Given the description of an element on the screen output the (x, y) to click on. 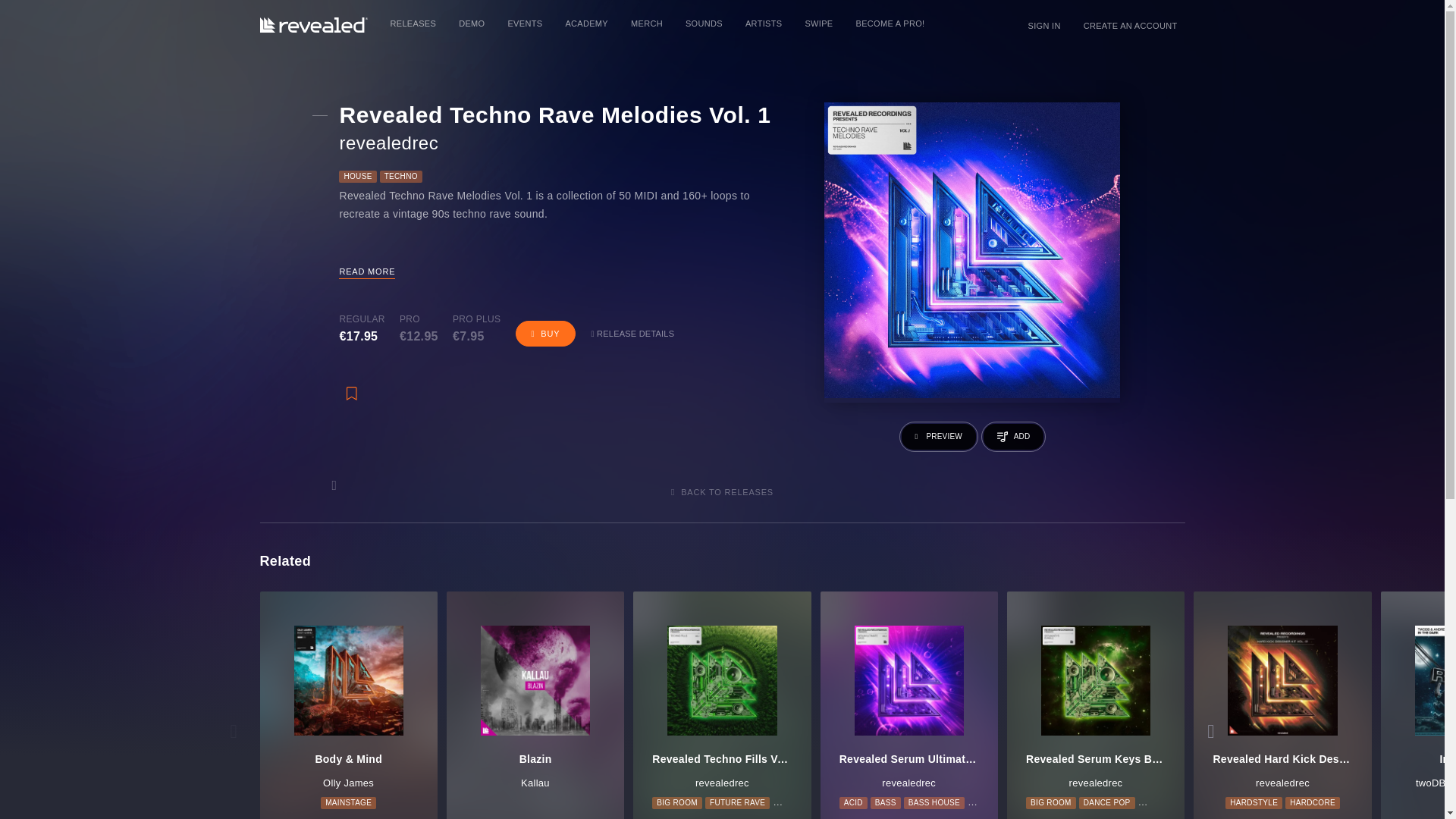
TECHNO (401, 176)
BECOME A PRO! (890, 23)
BUY (545, 333)
CREATE AN ACCOUNT (1130, 26)
HOUSE (357, 176)
ARTISTS (763, 23)
SOUNDS (703, 23)
RELEASES (413, 23)
SIGN IN (1043, 26)
EVENTS (524, 23)
DEMO (471, 23)
ADD TO PLAYLIST (1013, 436)
Revealed Recordings (312, 25)
revealedrec (388, 144)
